Given the description of an element on the screen output the (x, y) to click on. 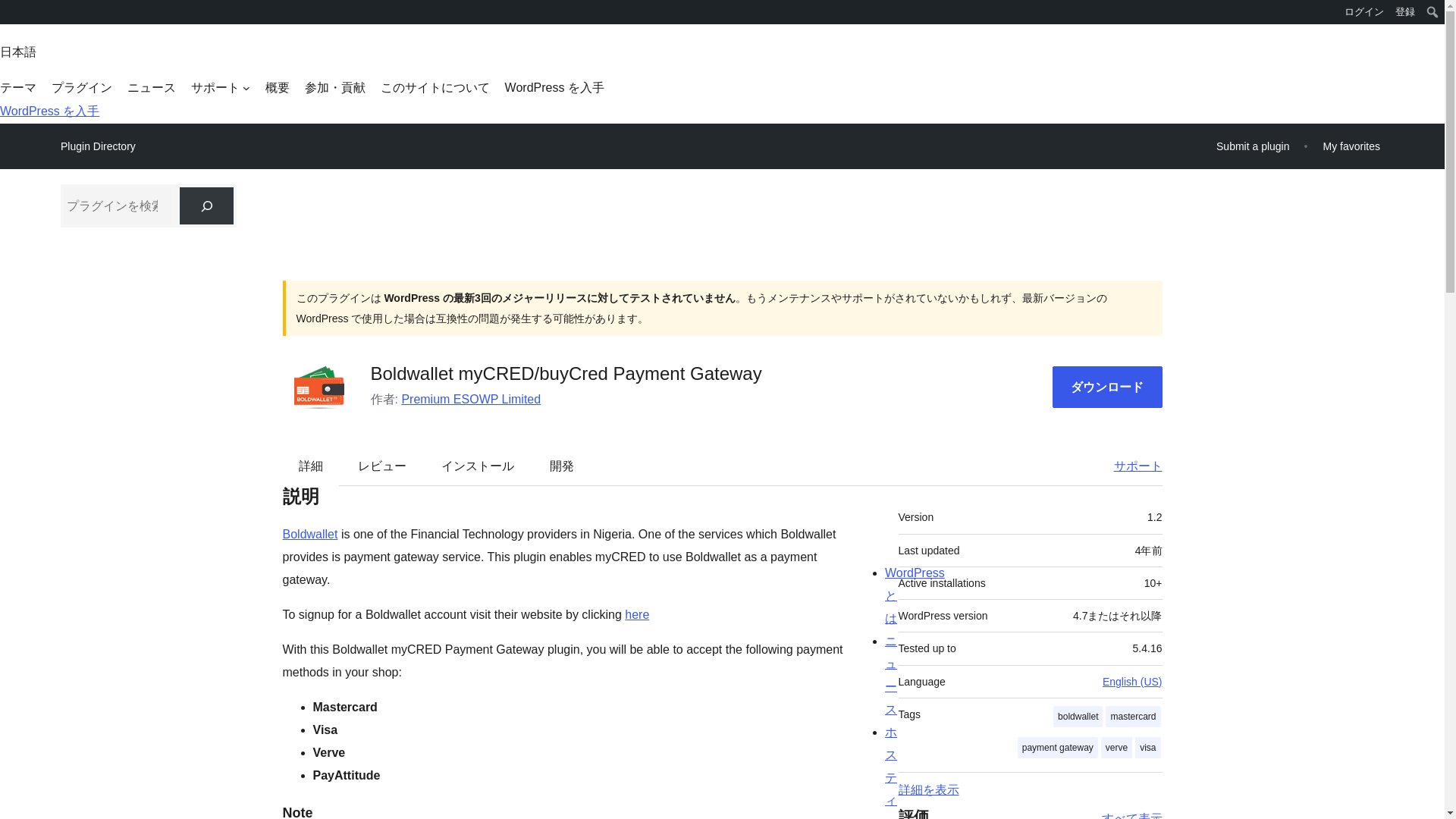
Premium ESOWP Limited (470, 399)
Submit a plugin (1253, 145)
My favorites (1351, 145)
here (636, 614)
Boldwallet (309, 533)
Plugin Directory (97, 146)
WordPress.org (10, 16)
WordPress.org (10, 10)
